Given the description of an element on the screen output the (x, y) to click on. 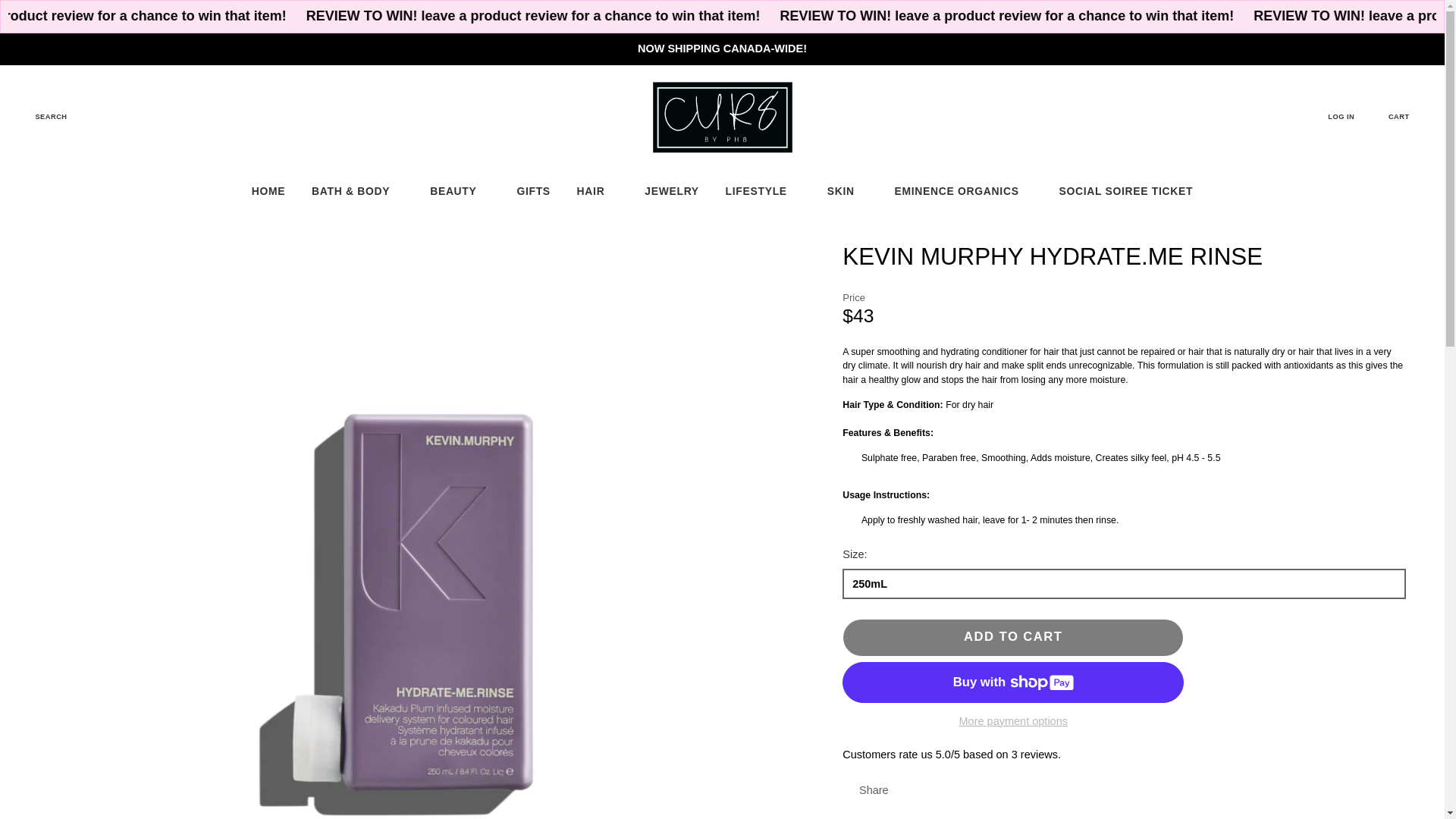
HOME (268, 190)
CART (1408, 116)
BEAUTY (459, 190)
SEARCH (41, 116)
LOG IN (1350, 116)
